Given the description of an element on the screen output the (x, y) to click on. 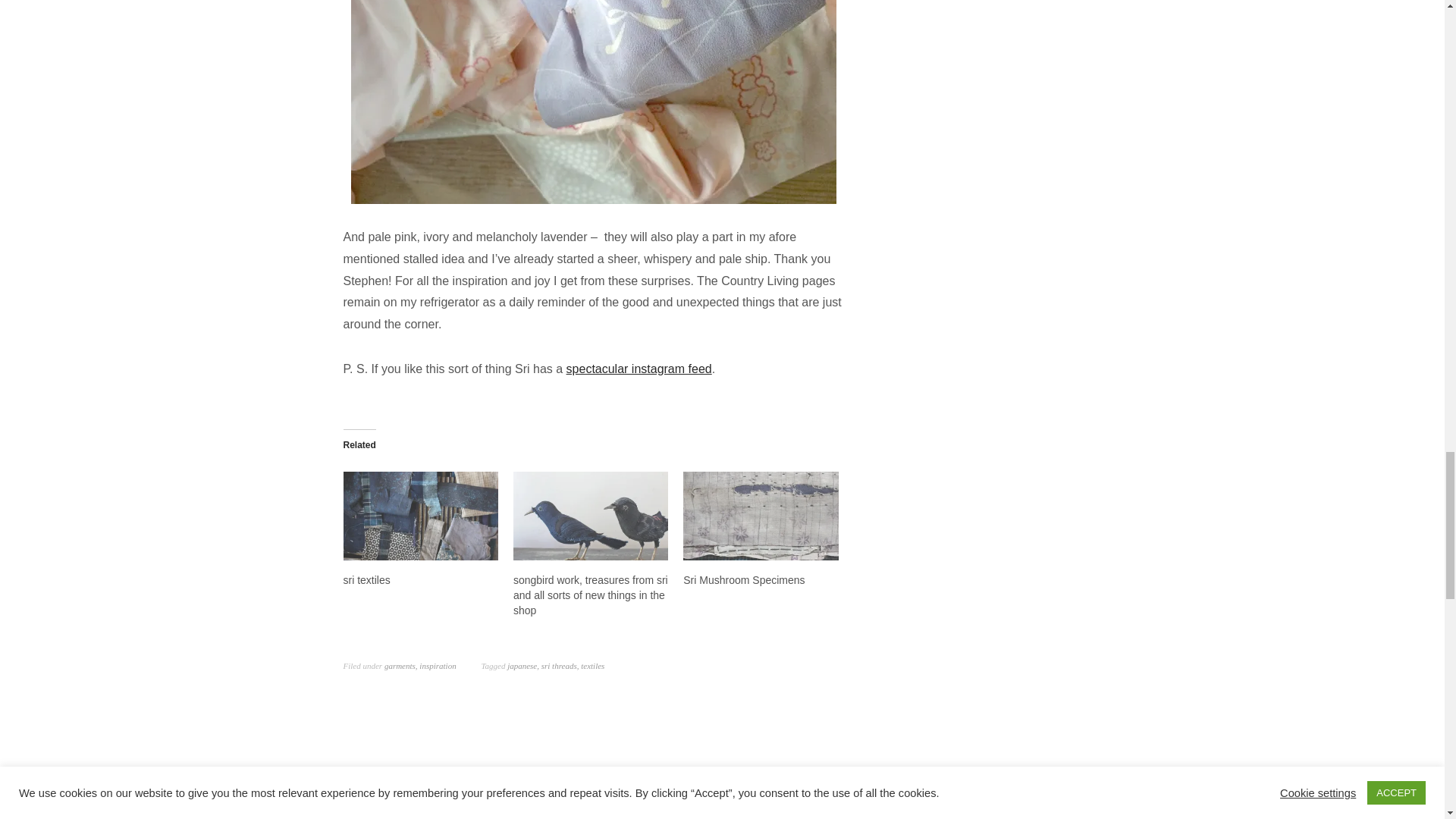
Sri Mushroom Specimens (743, 580)
sri textiles (366, 580)
sri textiles (419, 515)
Sri Mushroom Specimens (760, 515)
